Given the description of an element on the screen output the (x, y) to click on. 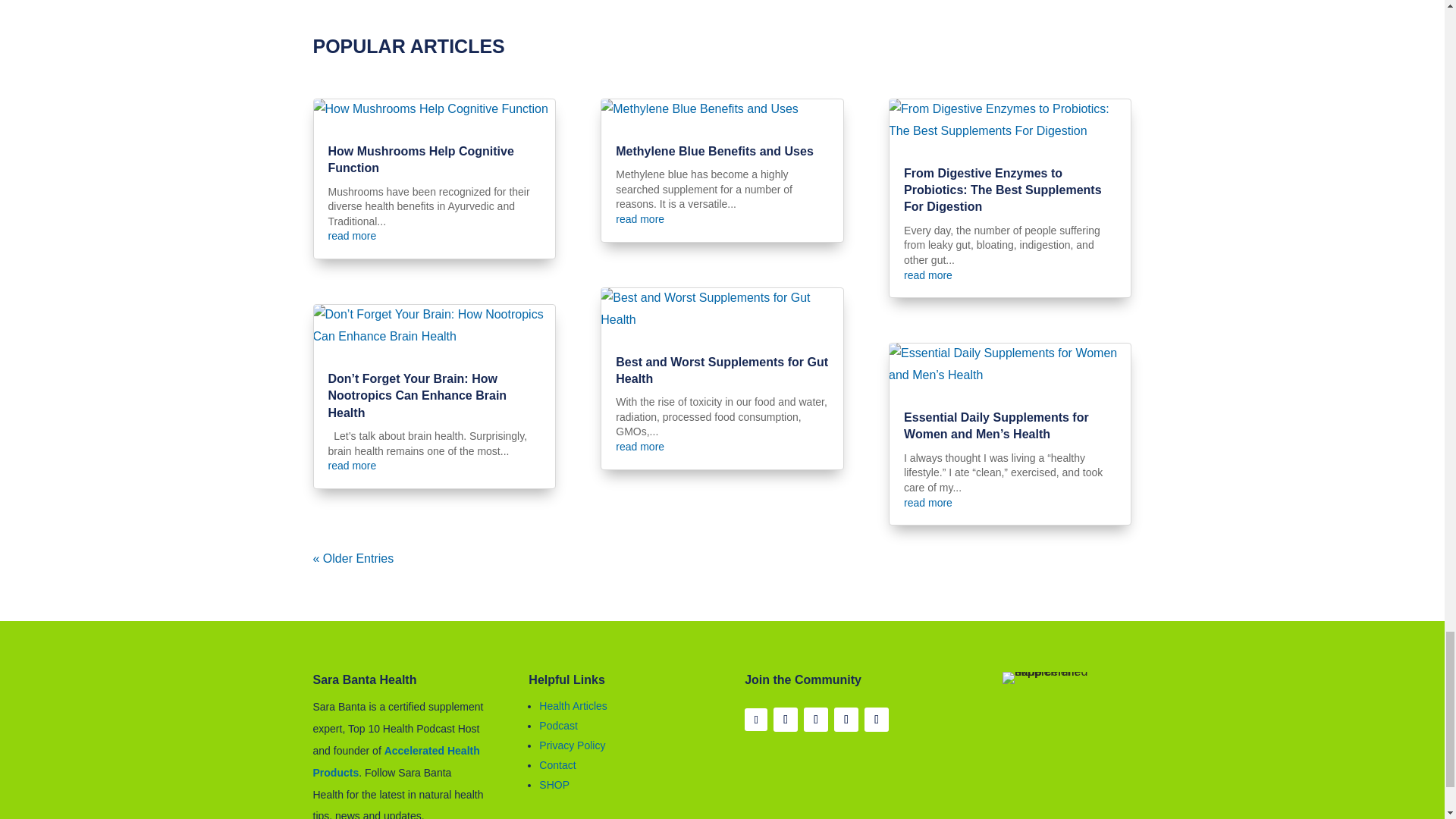
accelerated health products (396, 761)
